Given the description of an element on the screen output the (x, y) to click on. 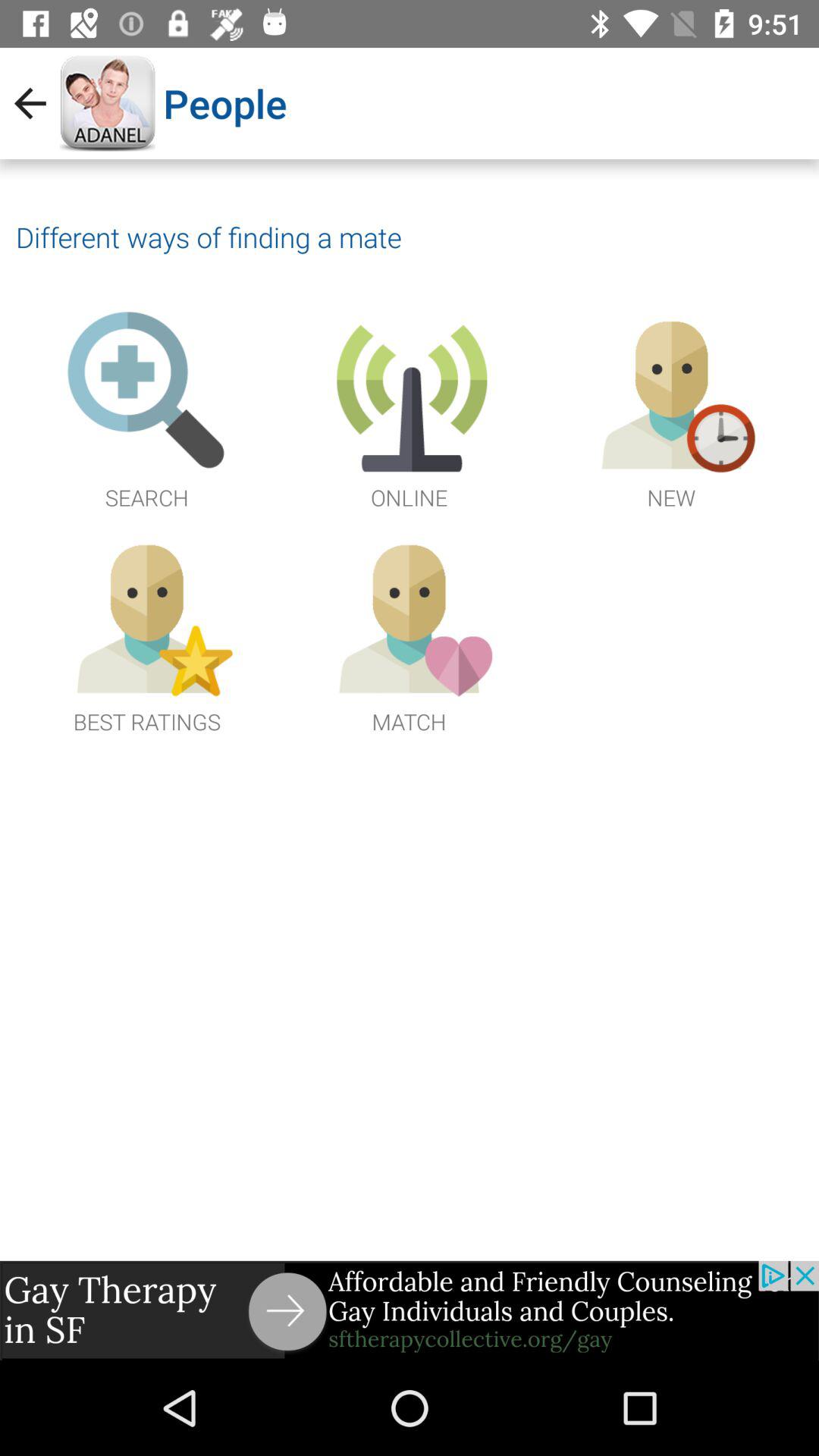
view advertisement (409, 1310)
